Given the description of an element on the screen output the (x, y) to click on. 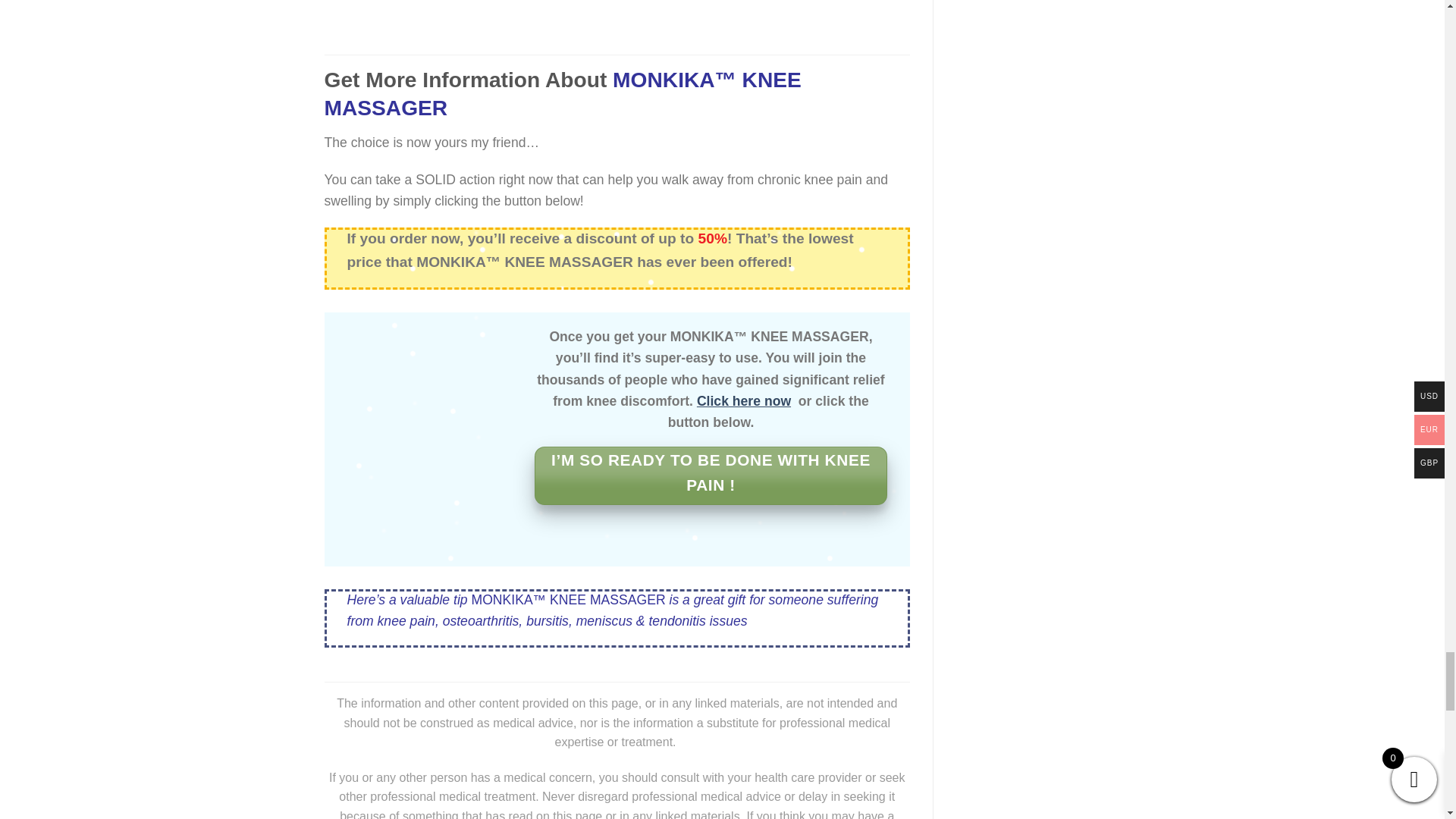
Click here now (743, 400)
Knee Pain From Walking ?What's the Best Treatment for You? 6 (617, 10)
Knee Pain From Walking ?What's the Best Treatment for You? 7 (429, 382)
